Given the description of an element on the screen output the (x, y) to click on. 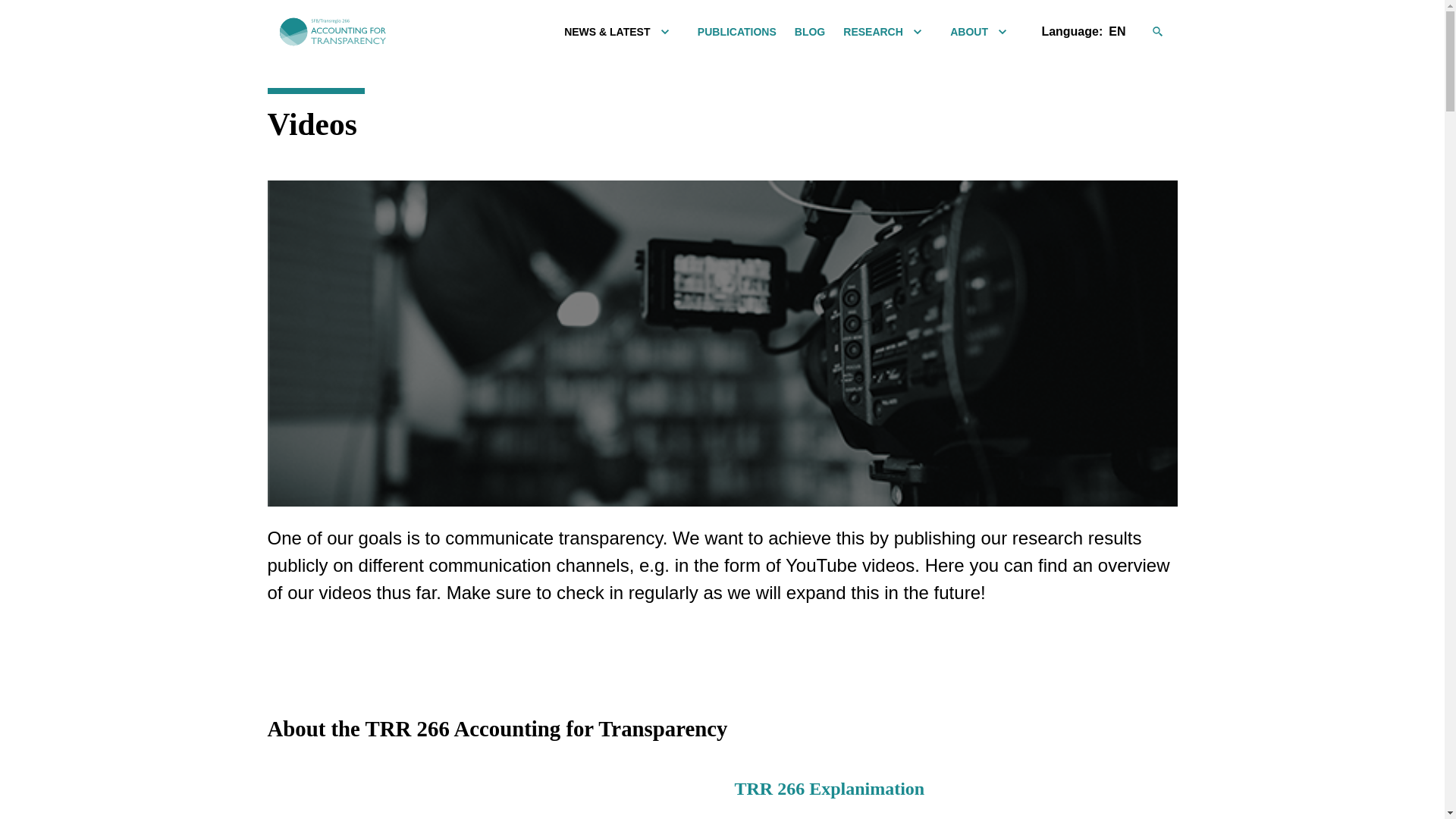
TRR266 (332, 31)
PUBLICATIONS (736, 31)
What is the TRR 266 Accounting for Transparency? (456, 797)
BLOG (809, 31)
EN (1116, 31)
Switch Language: English (1116, 31)
RESEARCH (872, 31)
Search (1164, 32)
ABOUT (969, 31)
